Given the description of an element on the screen output the (x, y) to click on. 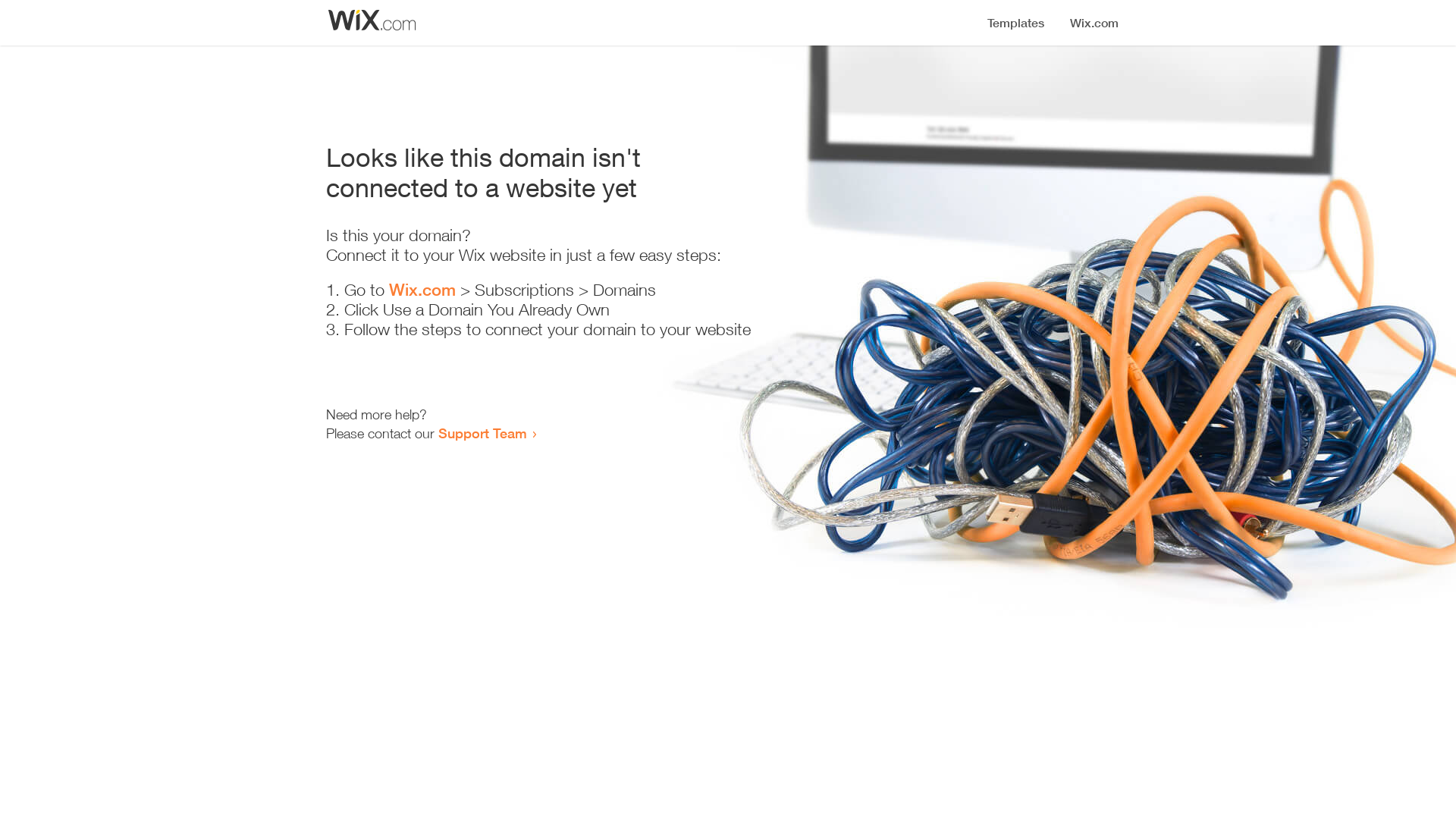
Support Team Element type: text (482, 432)
Wix.com Element type: text (422, 289)
